Given the description of an element on the screen output the (x, y) to click on. 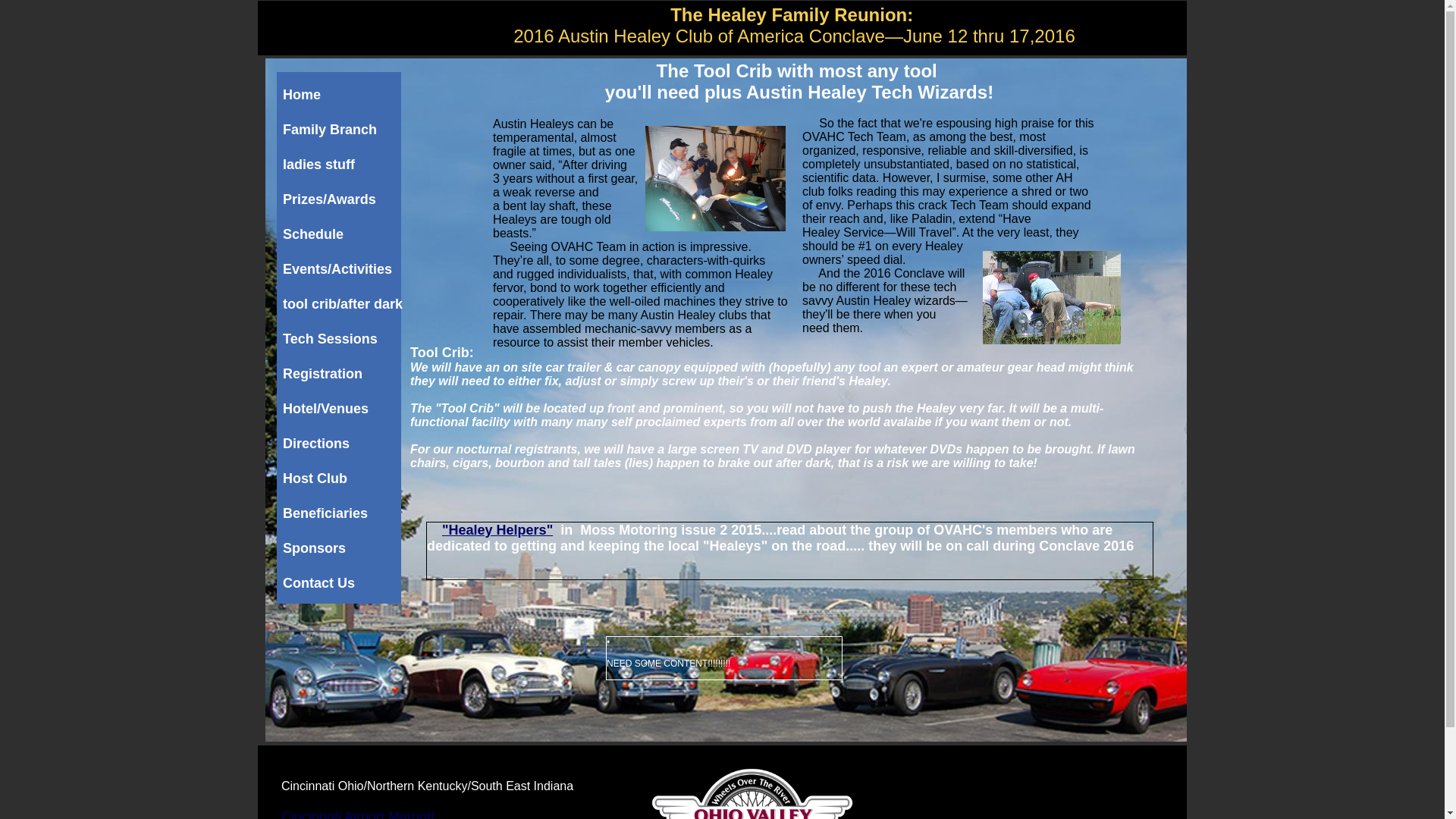
Events/Activities Element type: text (342, 269)
Host Club Element type: text (342, 478)
Prizes/Awards Element type: text (342, 199)
"Healey Helpers" Element type: text (497, 529)
Home Element type: text (342, 95)
Tech Sessions Element type: text (342, 339)
Schedule Element type: text (342, 234)
Family Branch Element type: text (342, 129)
Contact Us Element type: text (342, 583)
Sponsors Element type: text (342, 548)
Directions Element type: text (342, 443)
ladies stuff Element type: text (342, 164)
Hotel/Venues Element type: text (342, 409)
Beneficiaries Element type: text (342, 513)
Registration Element type: text (342, 374)
tool crib/after dark Element type: text (342, 304)
